Given the description of an element on the screen output the (x, y) to click on. 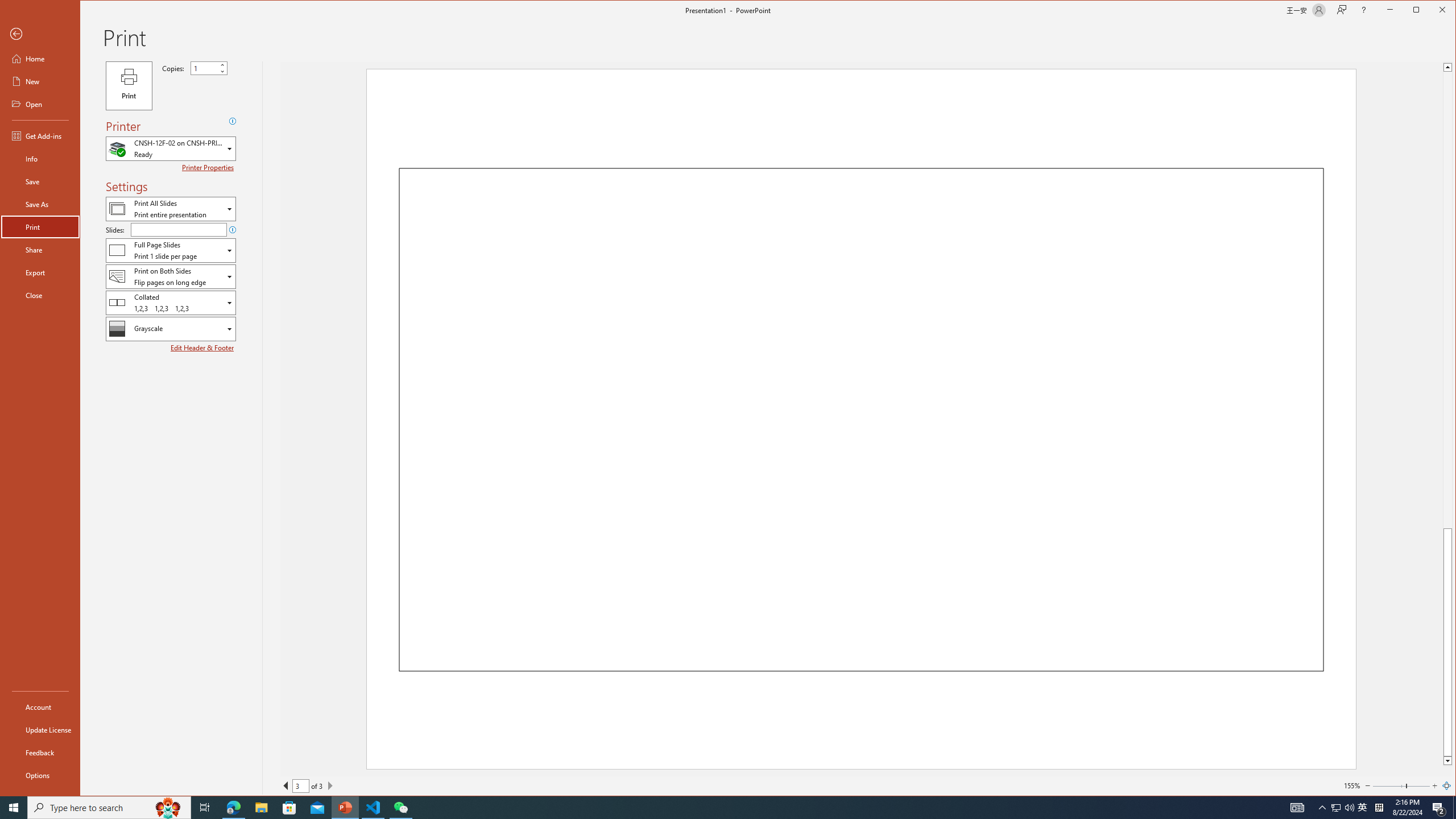
Color/Grayscale (170, 328)
155% (1351, 785)
Options (40, 775)
Printer Properties (208, 166)
Print (40, 226)
Save As (40, 203)
